Given the description of an element on the screen output the (x, y) to click on. 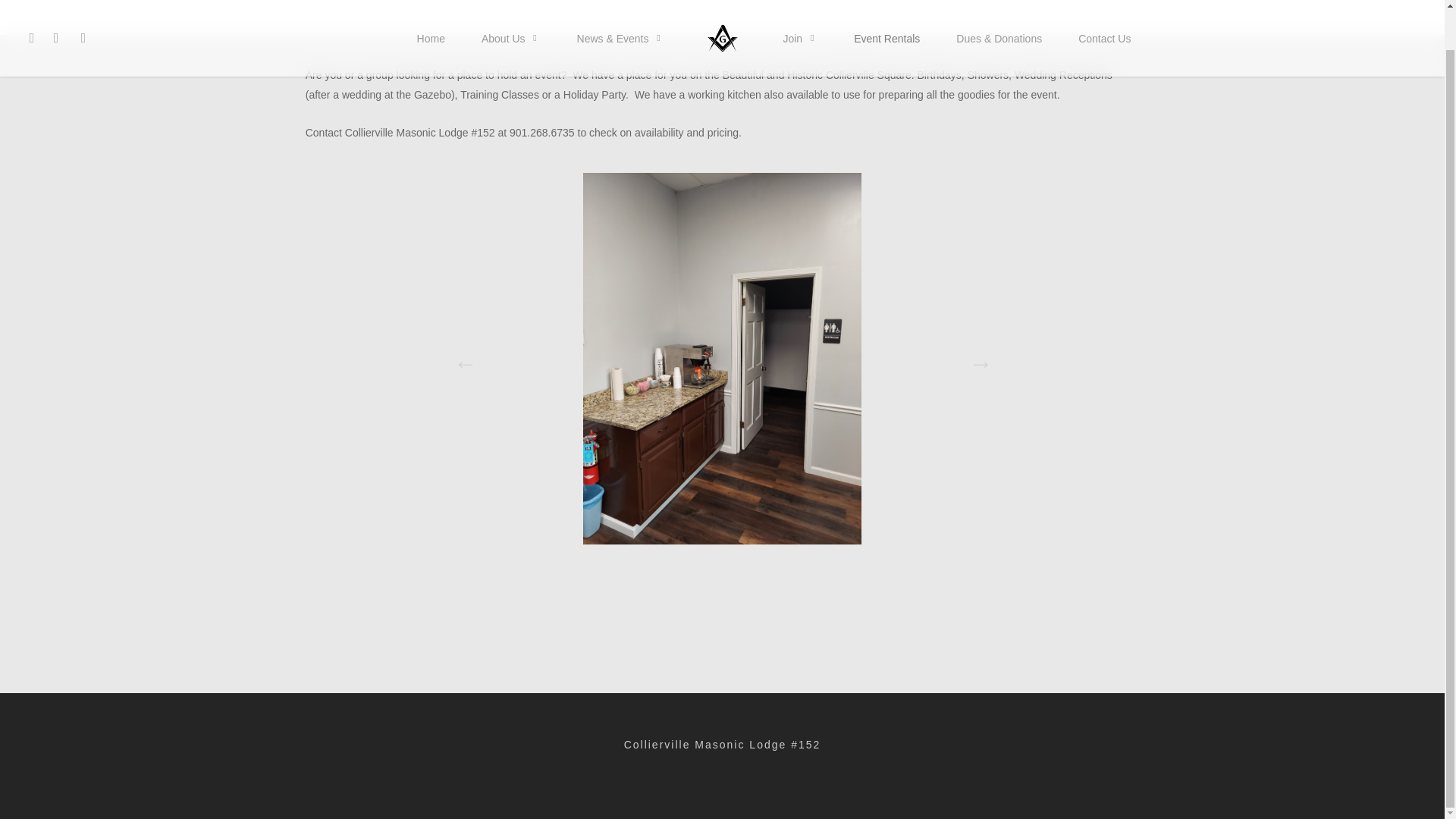
facebook (31, 2)
Join (799, 2)
Contact Us (1103, 2)
About Us (511, 2)
Event Rentals (886, 2)
Previous (460, 358)
email (83, 2)
Home (430, 2)
phone (55, 2)
Next (976, 358)
